Given the description of an element on the screen output the (x, y) to click on. 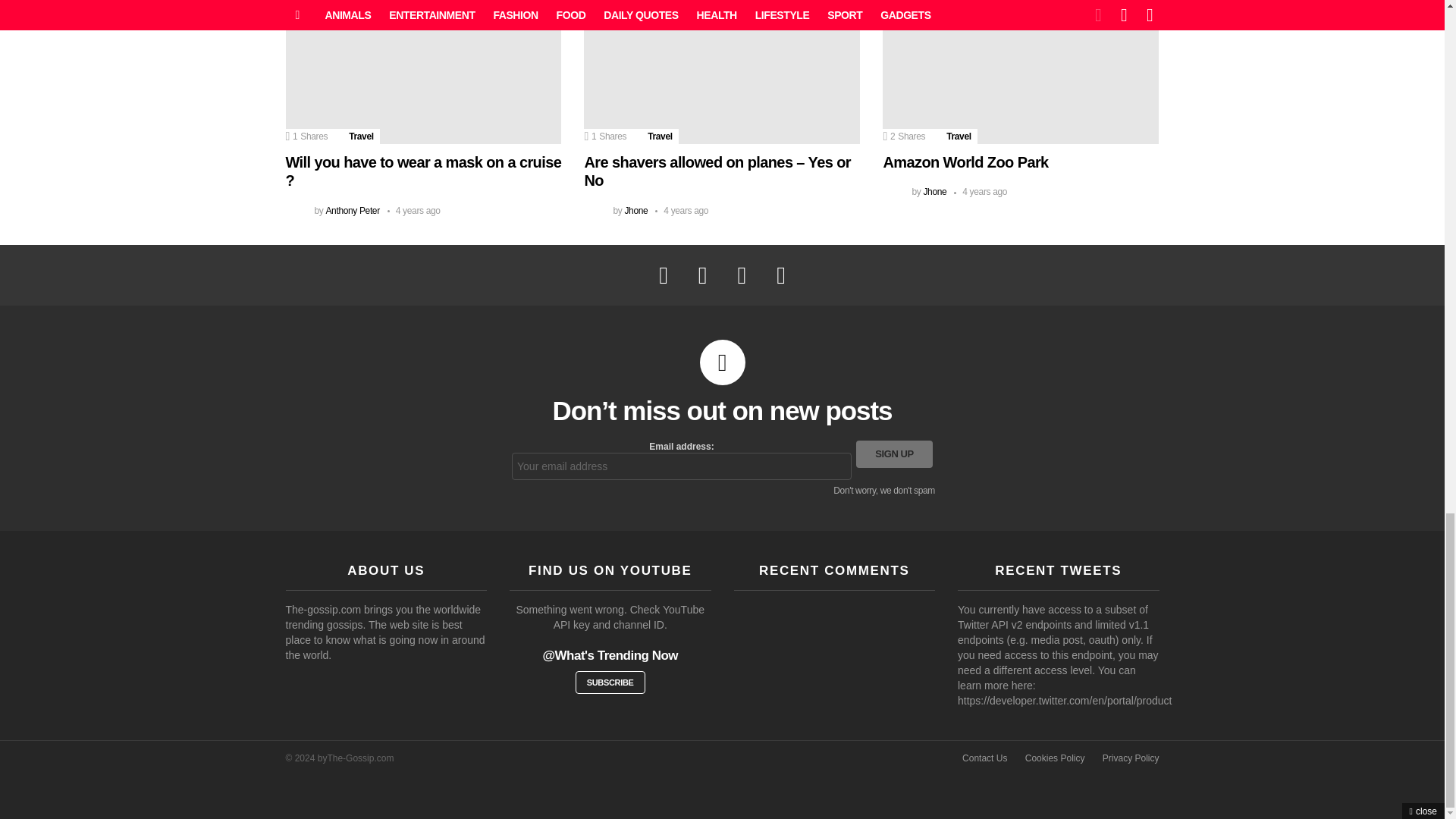
Sign up (894, 453)
